Given the description of an element on the screen output the (x, y) to click on. 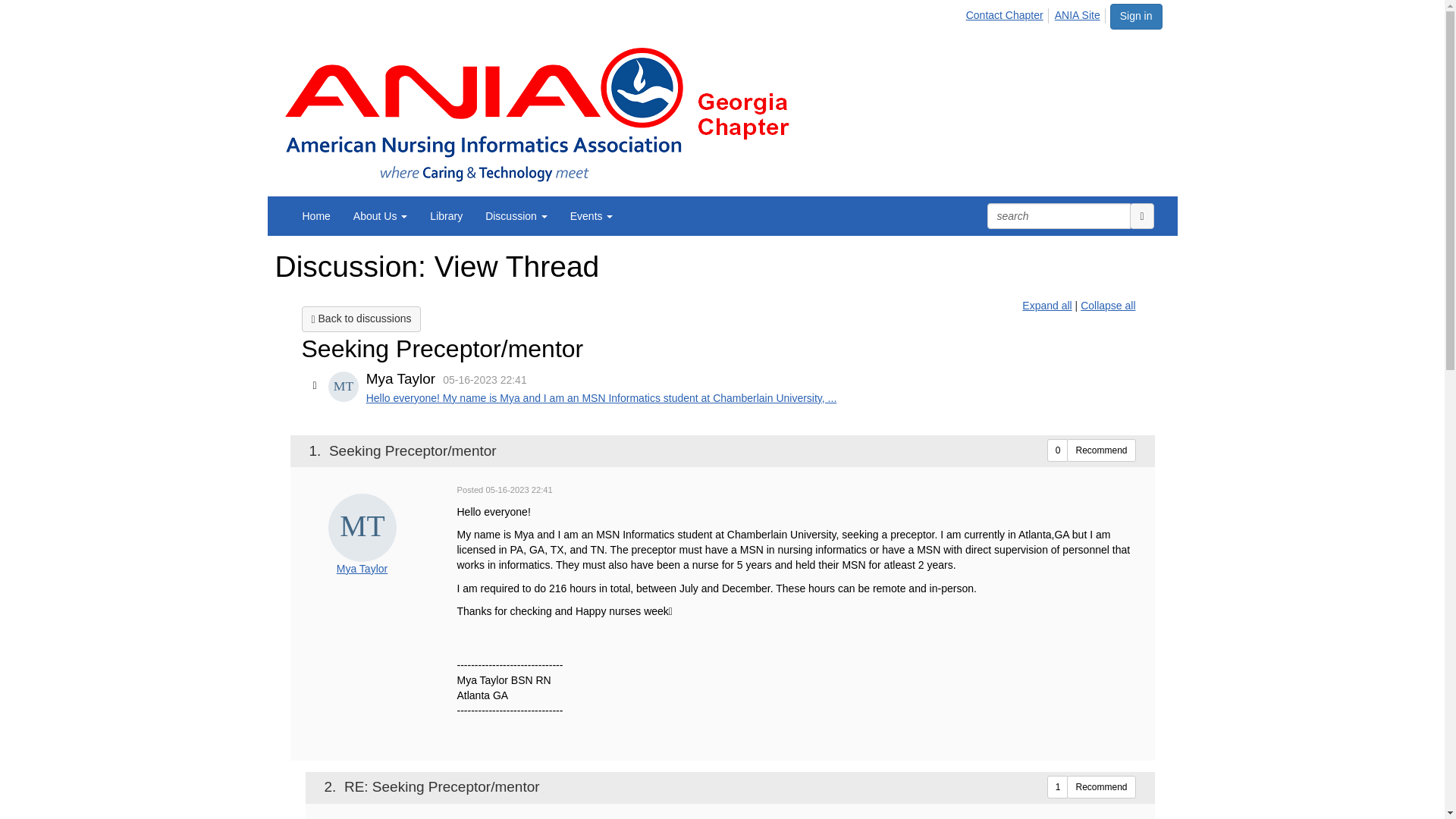
Recommend this item. (1101, 786)
Library (446, 216)
Discussion (516, 216)
Home (316, 216)
How to get in contact with the ANIA Chapter (1005, 15)
0 (1057, 449)
Contact Chapter (1005, 15)
ANIA Site (1078, 15)
Recommend this item. (1101, 449)
Sign in (1135, 16)
Recommend (1101, 449)
Mya Taylor (361, 568)
Nbr of recommenders (1057, 449)
Events (591, 216)
Expand all (1046, 305)
